Given the description of an element on the screen output the (x, y) to click on. 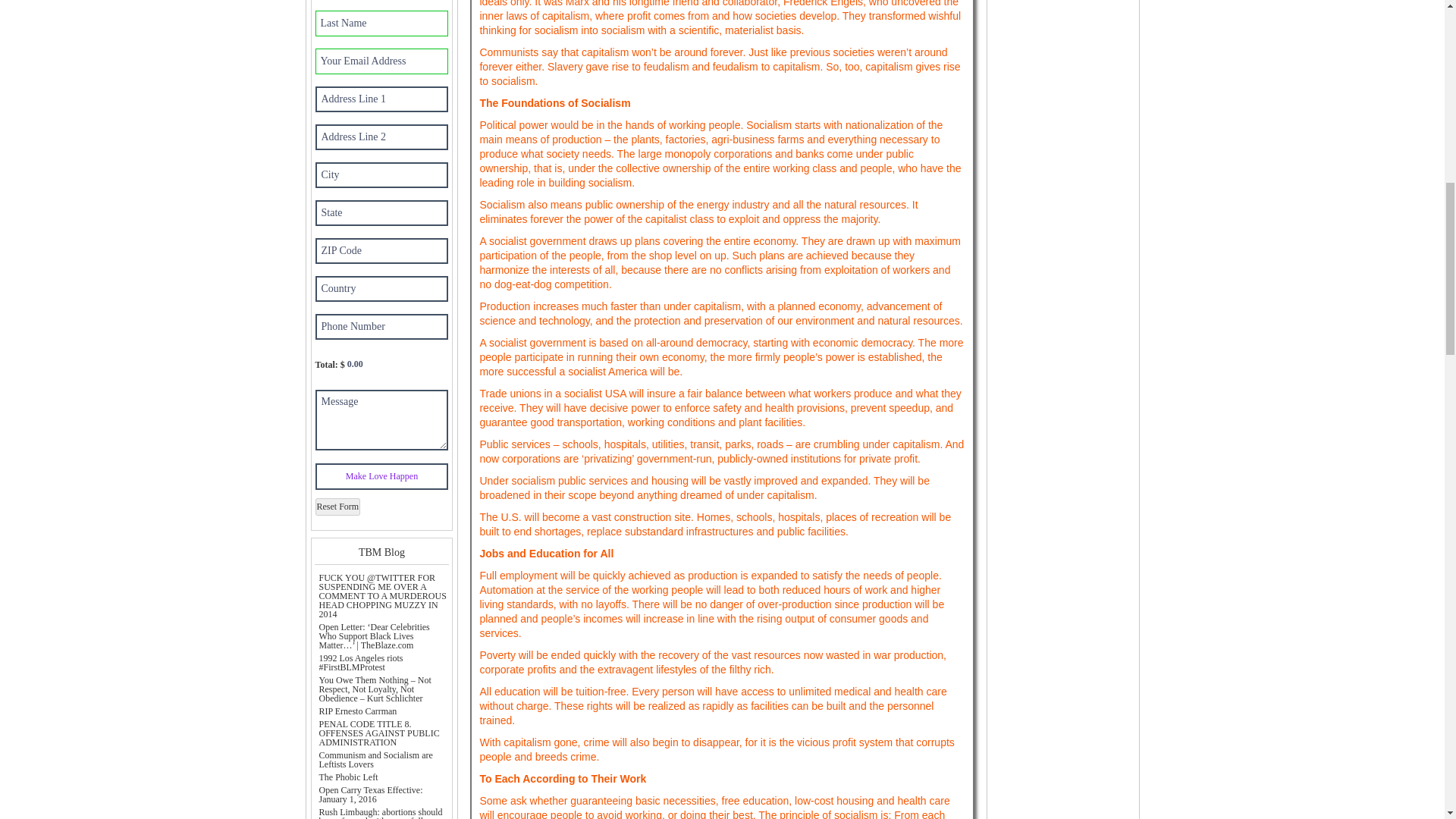
The Phobic Left (347, 777)
Address Line 2 (381, 136)
Open Carry Texas Effective: January 1, 2016 (370, 794)
Reset Form (338, 506)
Last Name (381, 23)
0.00 (370, 364)
Phone Number (381, 326)
Make Love Happen (381, 476)
State (381, 212)
Communism and Socialism are Leftists Lovers (375, 759)
Address Line 1 (381, 99)
Country (381, 289)
ZIP Code (381, 250)
City (381, 175)
